Given the description of an element on the screen output the (x, y) to click on. 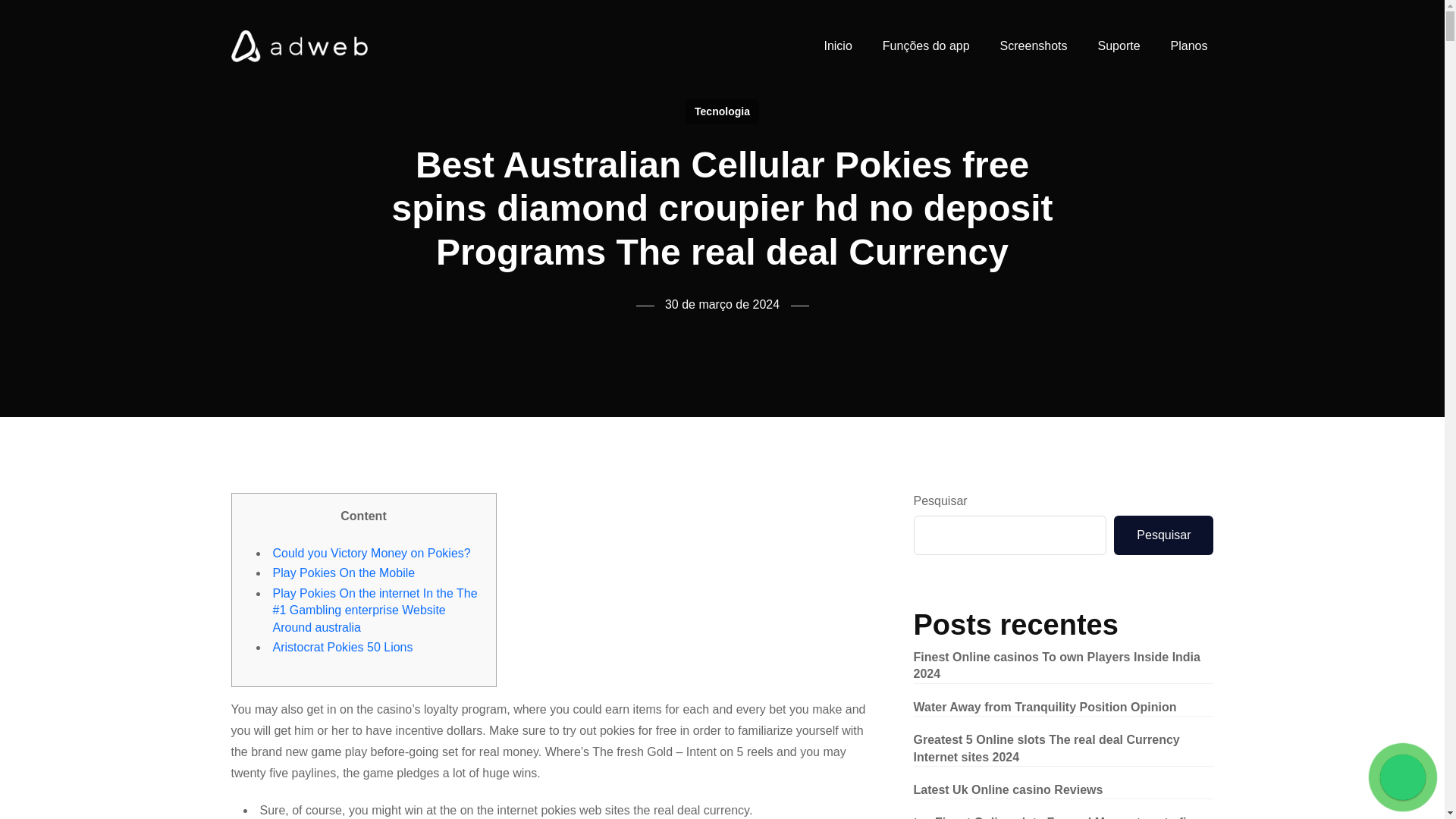
Water Away from Tranquility Position Opinion (1044, 707)
Pesquisar (1162, 535)
Tecnologia (721, 111)
Inicio (837, 45)
Planos (1189, 45)
Suporte (1119, 45)
Latest Uk Online casino Reviews (1007, 789)
Screenshots (1034, 45)
Could you Victory Money on Pokies? (371, 553)
